Given the description of an element on the screen output the (x, y) to click on. 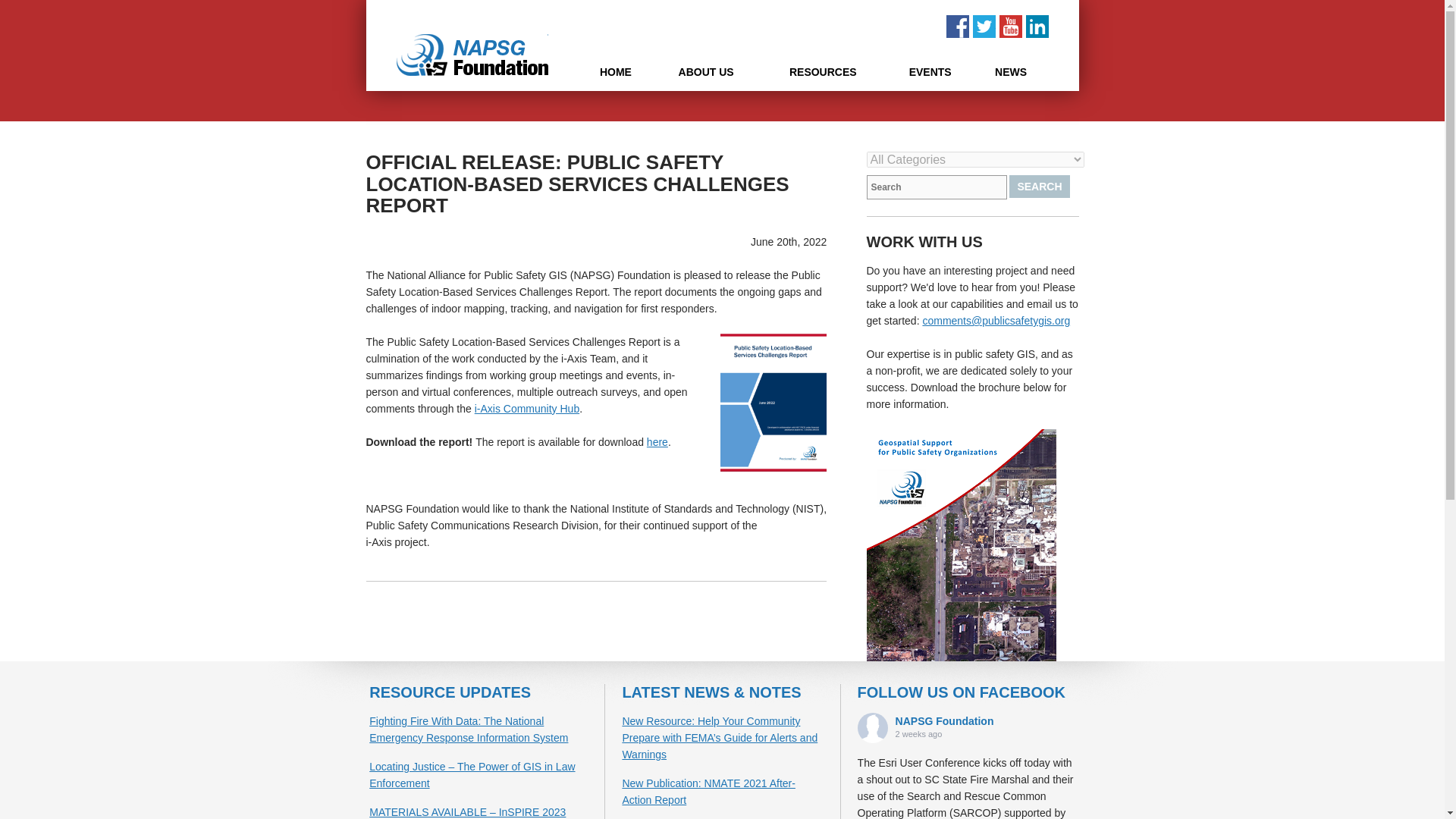
HOME (615, 75)
Facebook (957, 26)
NEWS (1010, 75)
New Publication: NMATE 2021 After-Action Report (707, 791)
ABOUT US (705, 75)
New Publication: NMATE 2021 After-Action Report (707, 791)
NAPSG Foundation (944, 720)
Twitter (983, 26)
EVENTS (930, 75)
i-Axis Community Hub (526, 408)
RESOURCES (823, 75)
Youtube (1010, 26)
Search (1038, 186)
